Given the description of an element on the screen output the (x, y) to click on. 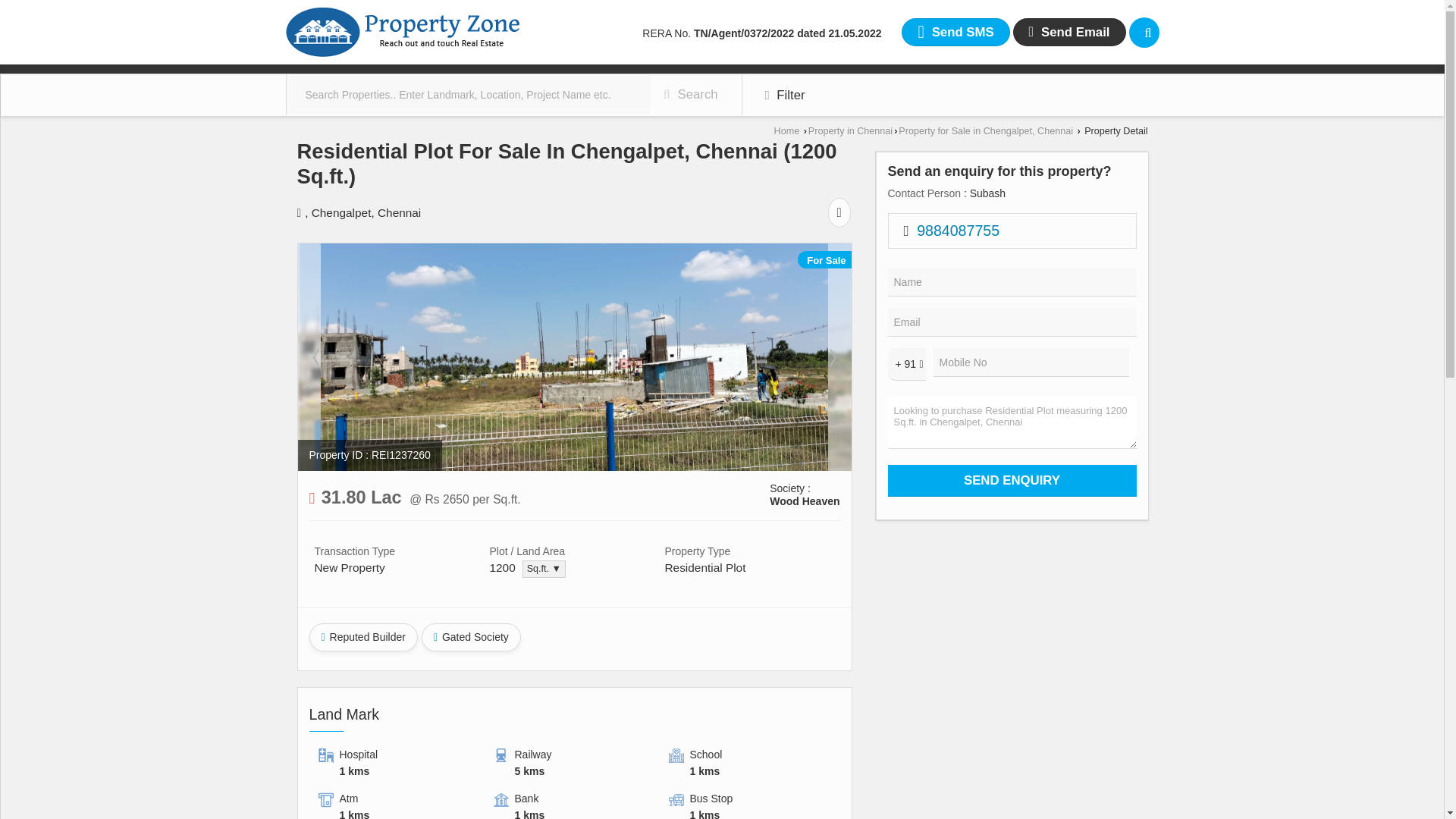
Send Email (1069, 31)
Send SMS (955, 31)
Search (1143, 32)
Property Zone (401, 31)
Send Enquiry (1010, 480)
